Given the description of an element on the screen output the (x, y) to click on. 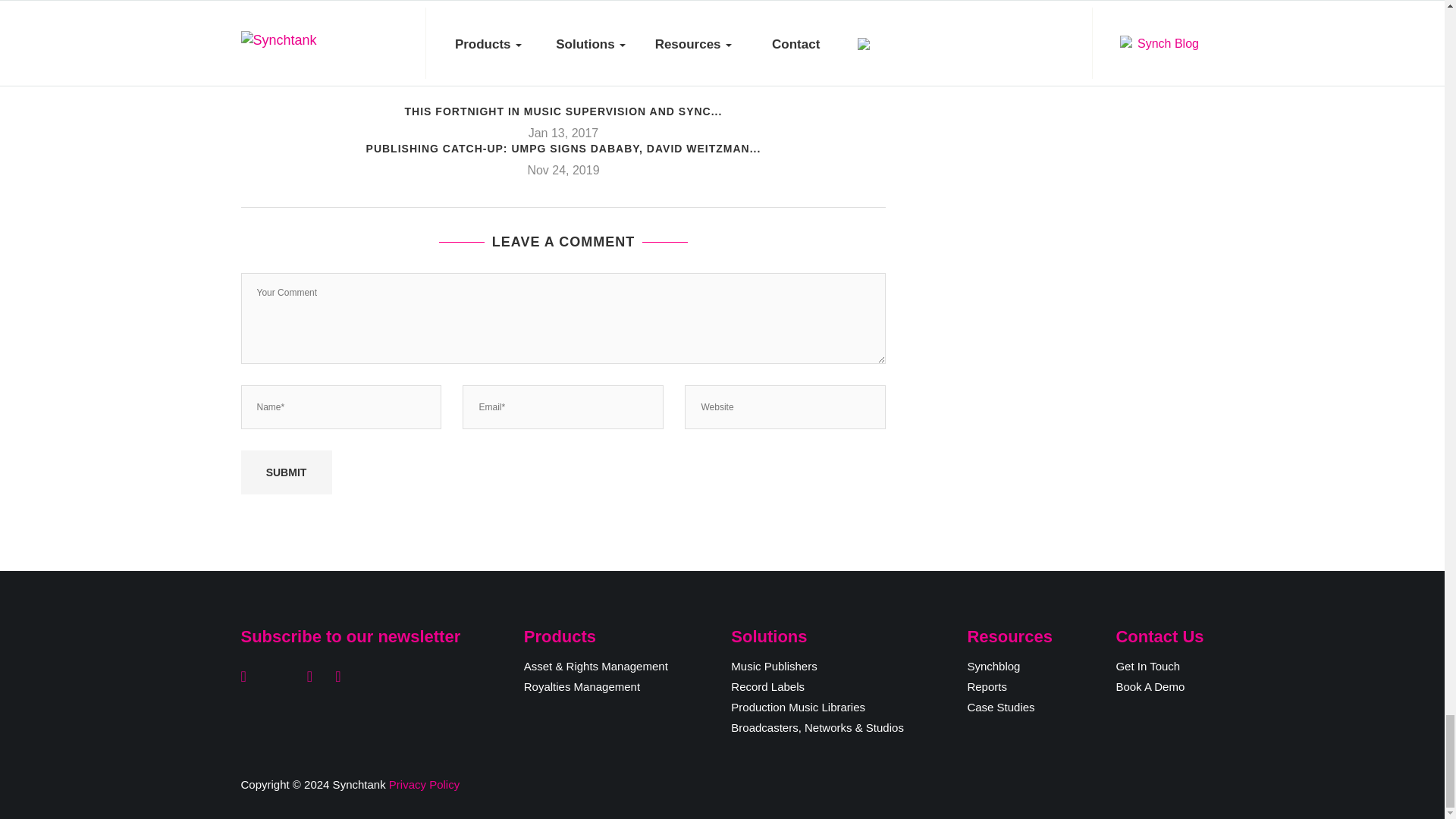
Submit (286, 472)
